Given the description of an element on the screen output the (x, y) to click on. 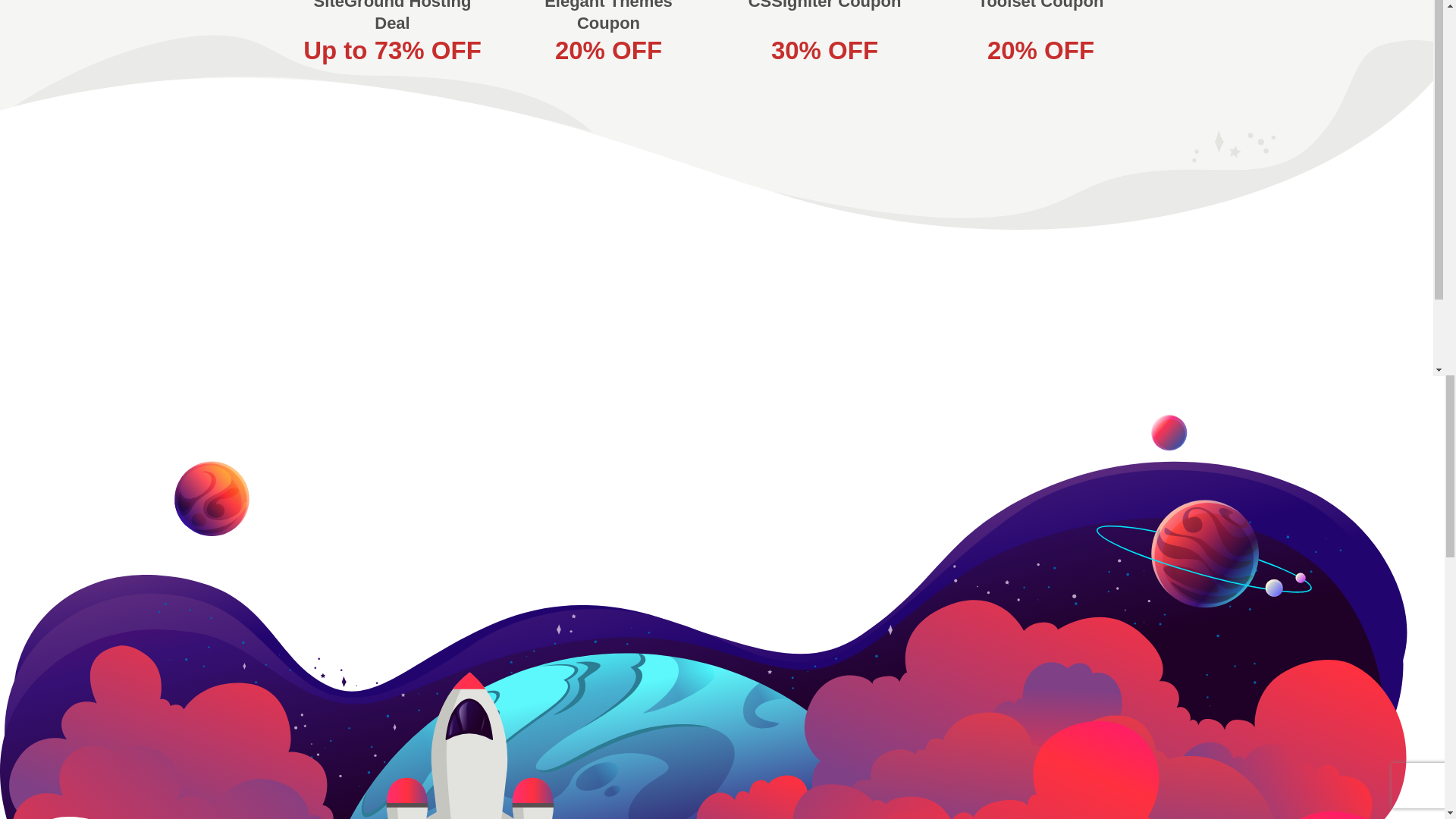
CSSIgniter Coupon (824, 5)
Toolset Coupon (1040, 5)
Elegant Themes Coupon (608, 16)
SiteGround Hosting Deal (392, 16)
